Given the description of an element on the screen output the (x, y) to click on. 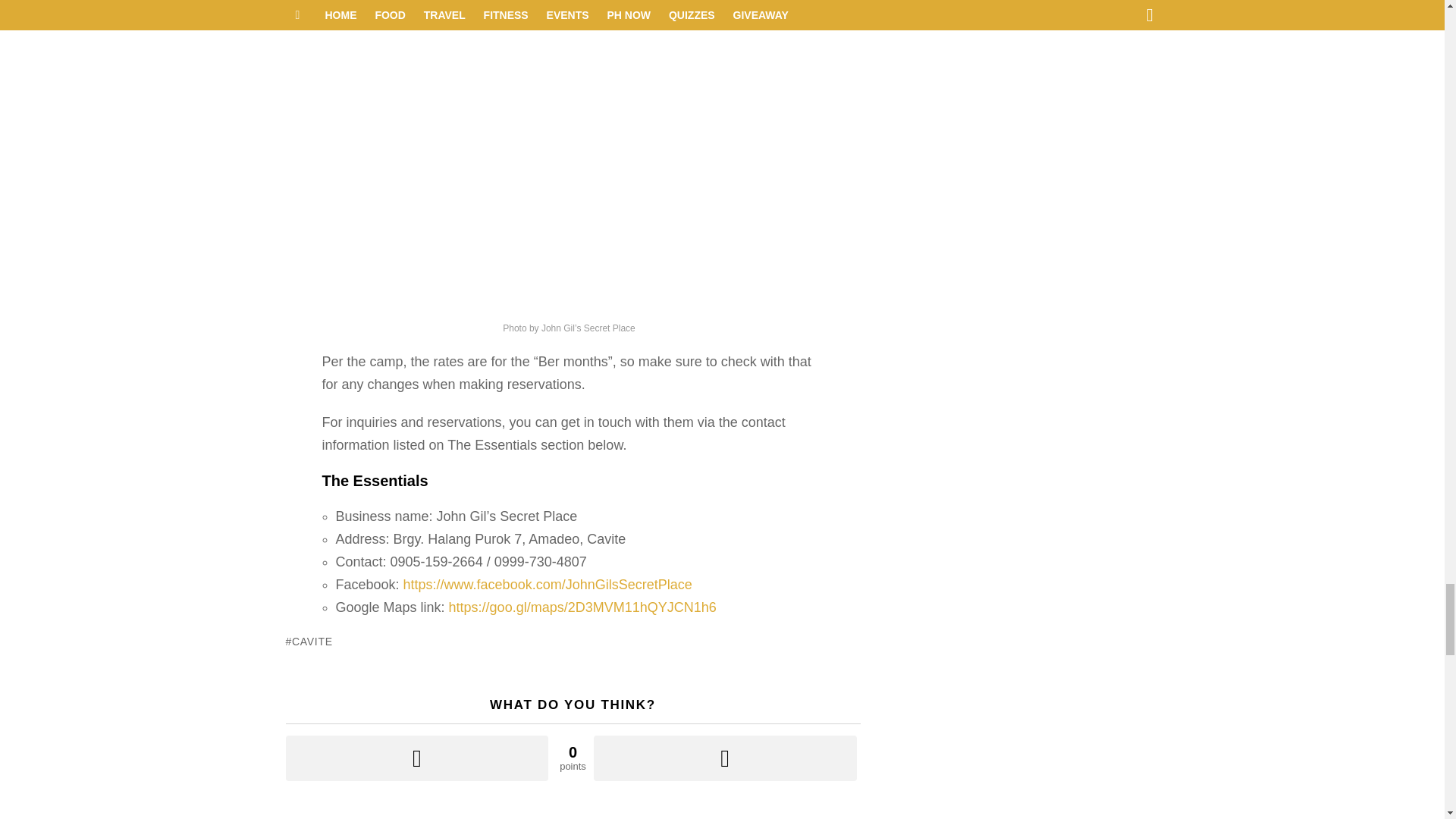
Upvote (416, 758)
Downvote (725, 758)
